Given the description of an element on the screen output the (x, y) to click on. 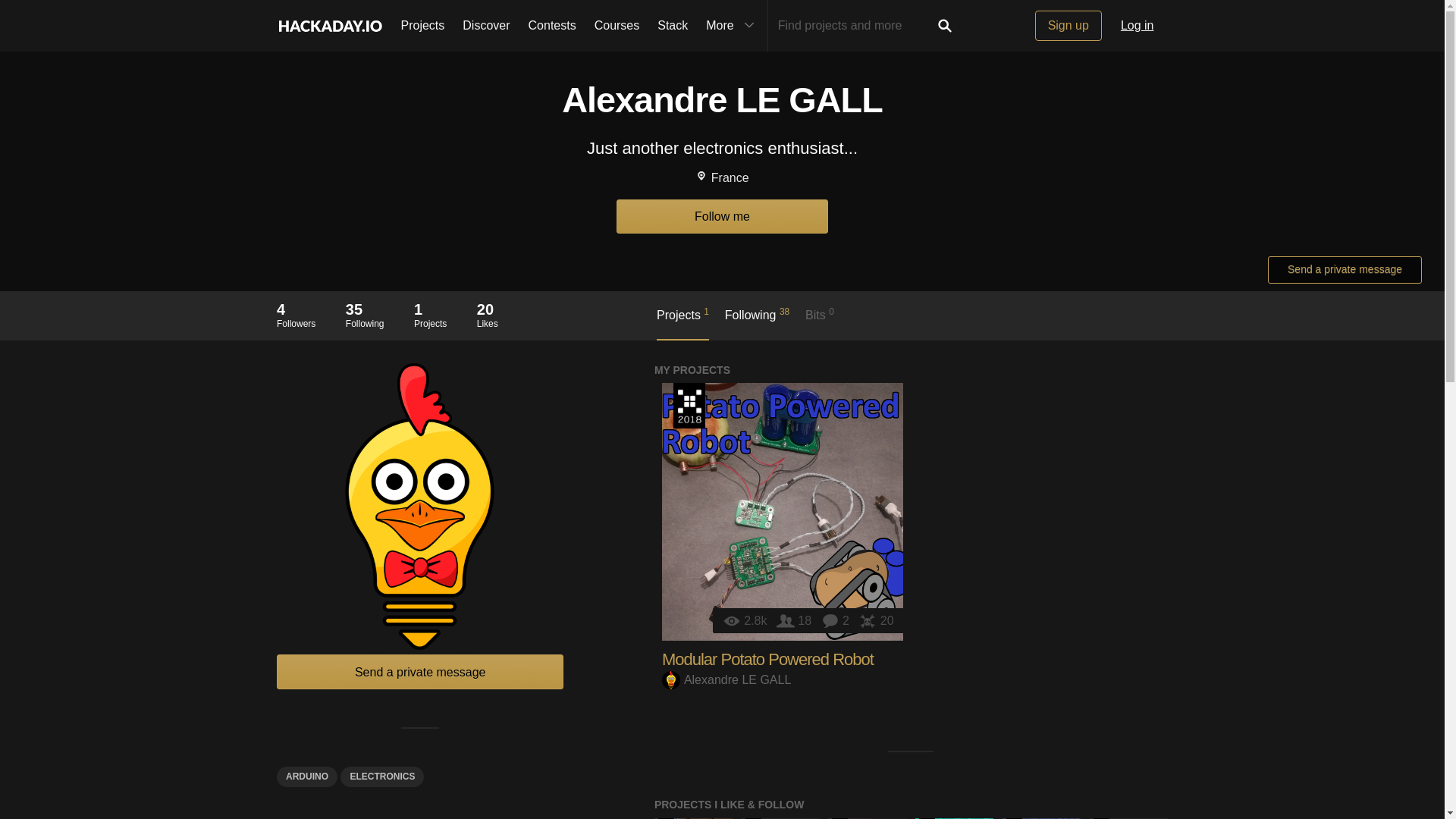
Send a private message (1345, 269)
ELECTRONICS (295, 314)
Modular Potato Powered Robot (381, 776)
Discover (767, 659)
Search (485, 25)
Alexandre LE GALL (944, 25)
Contests (726, 679)
Projects 1 (552, 25)
2.8k 18 2 20 (682, 322)
Follow me (783, 511)
View Count (721, 216)
Projects 1 (746, 620)
Two characters minimum (682, 322)
More (853, 25)
